Given the description of an element on the screen output the (x, y) to click on. 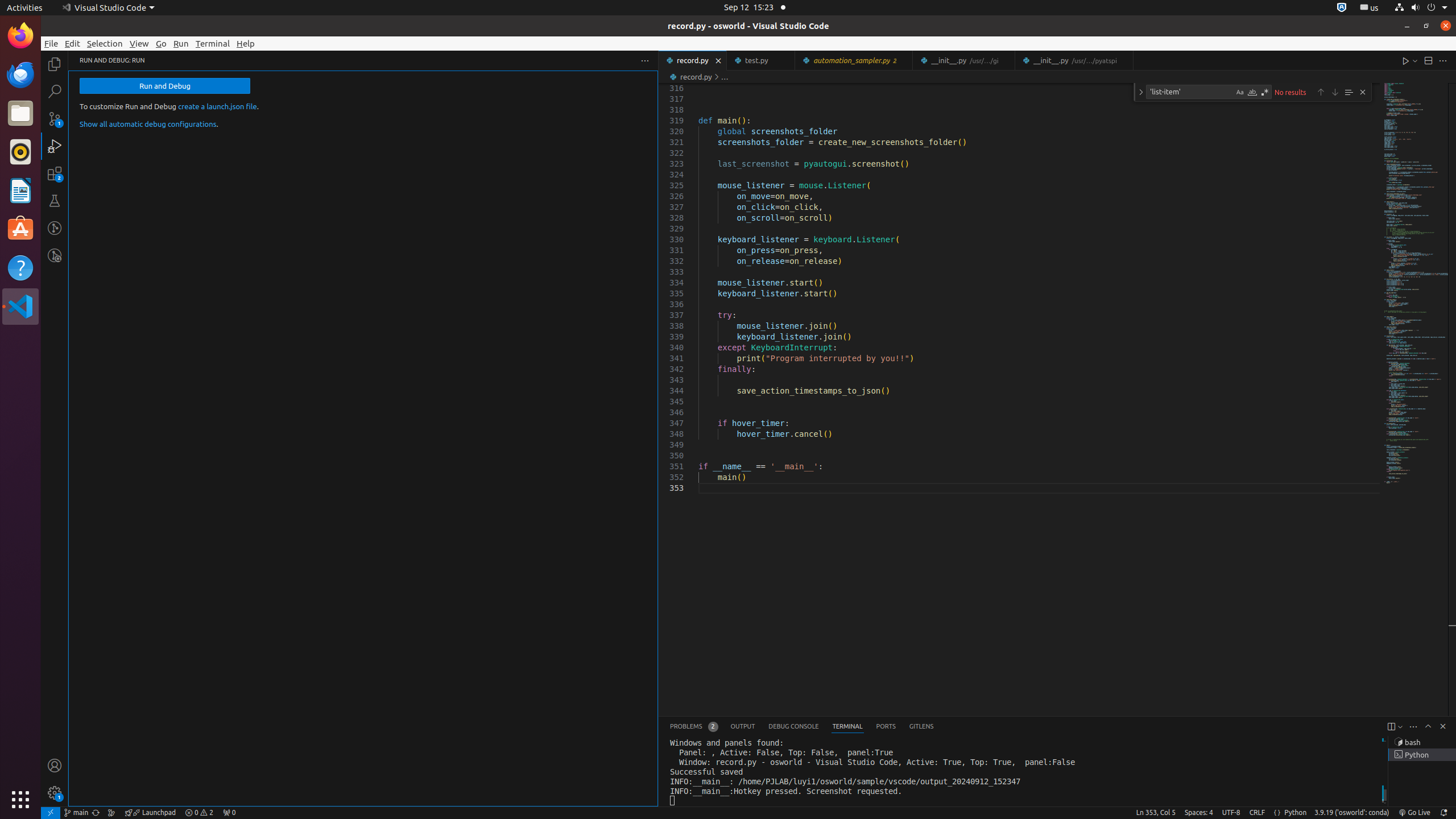
Split Terminal (Ctrl+Shift+5) Element type: push-button (1390, 726)
Terminal Element type: push-button (212, 43)
Edit Element type: push-button (72, 43)
Show the GitLens Commit Graph Element type: push-button (111, 812)
